Given the description of an element on the screen output the (x, y) to click on. 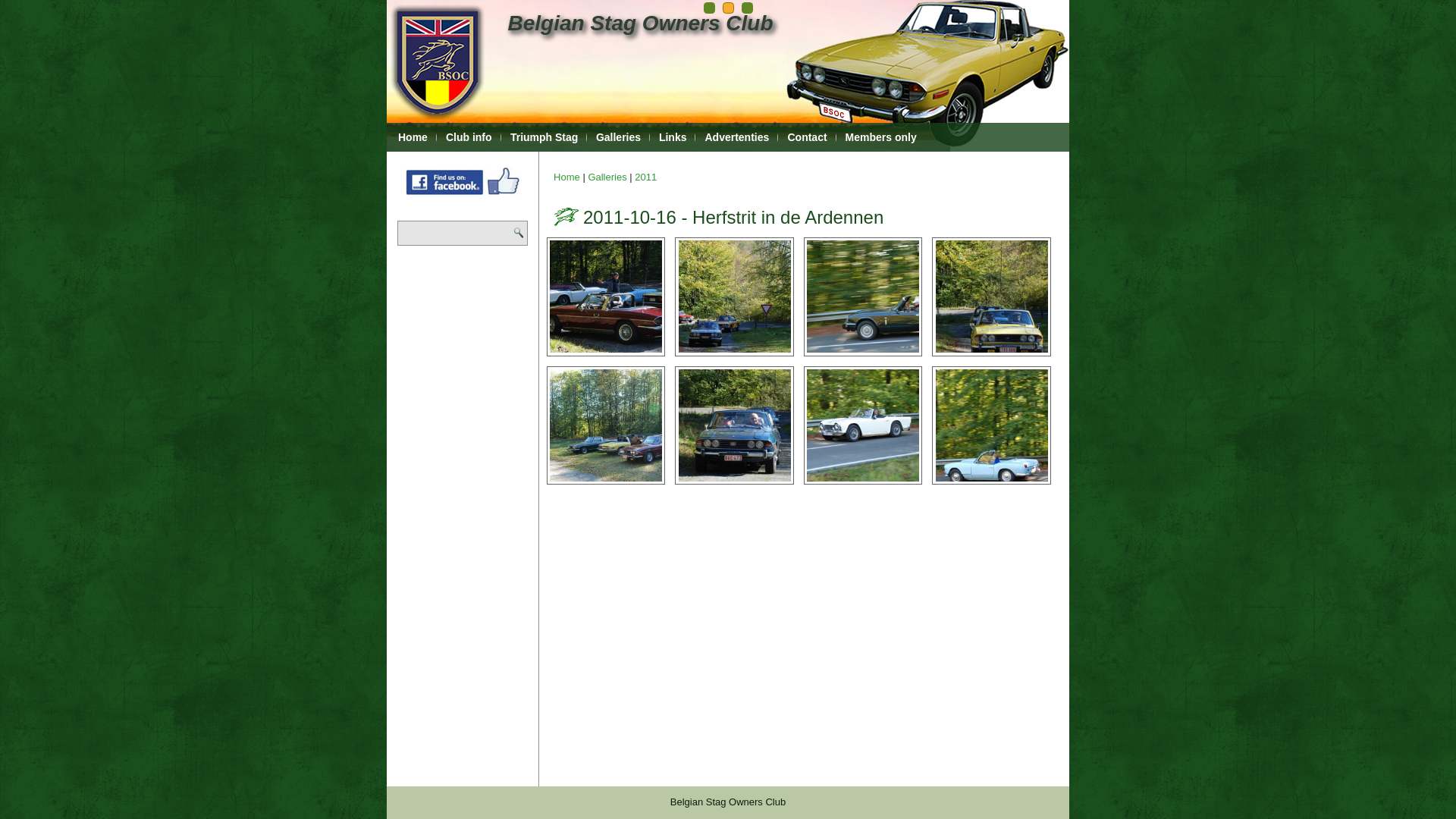
Geef de woorden op waarnaar u wilt zoeken. Element type: hover (462, 232)
Links Element type: text (672, 137)
2011 Element type: text (645, 176)
View larger image Element type: hover (605, 425)
View larger image Element type: hover (862, 296)
Galleries Element type: text (606, 176)
View larger image Element type: hover (991, 296)
View larger image Element type: hover (734, 425)
View larger image Element type: hover (605, 296)
Contact Element type: text (806, 137)
Galleries Element type: text (617, 137)
Home Element type: text (412, 137)
View larger image Element type: hover (991, 425)
Home Element type: text (566, 176)
Members only Element type: text (880, 137)
Club info Element type: text (468, 137)
Triumph Stag Element type: text (543, 137)
View larger image Element type: hover (862, 425)
View larger image Element type: hover (734, 296)
Advertenties Element type: text (736, 137)
